Given the description of an element on the screen output the (x, y) to click on. 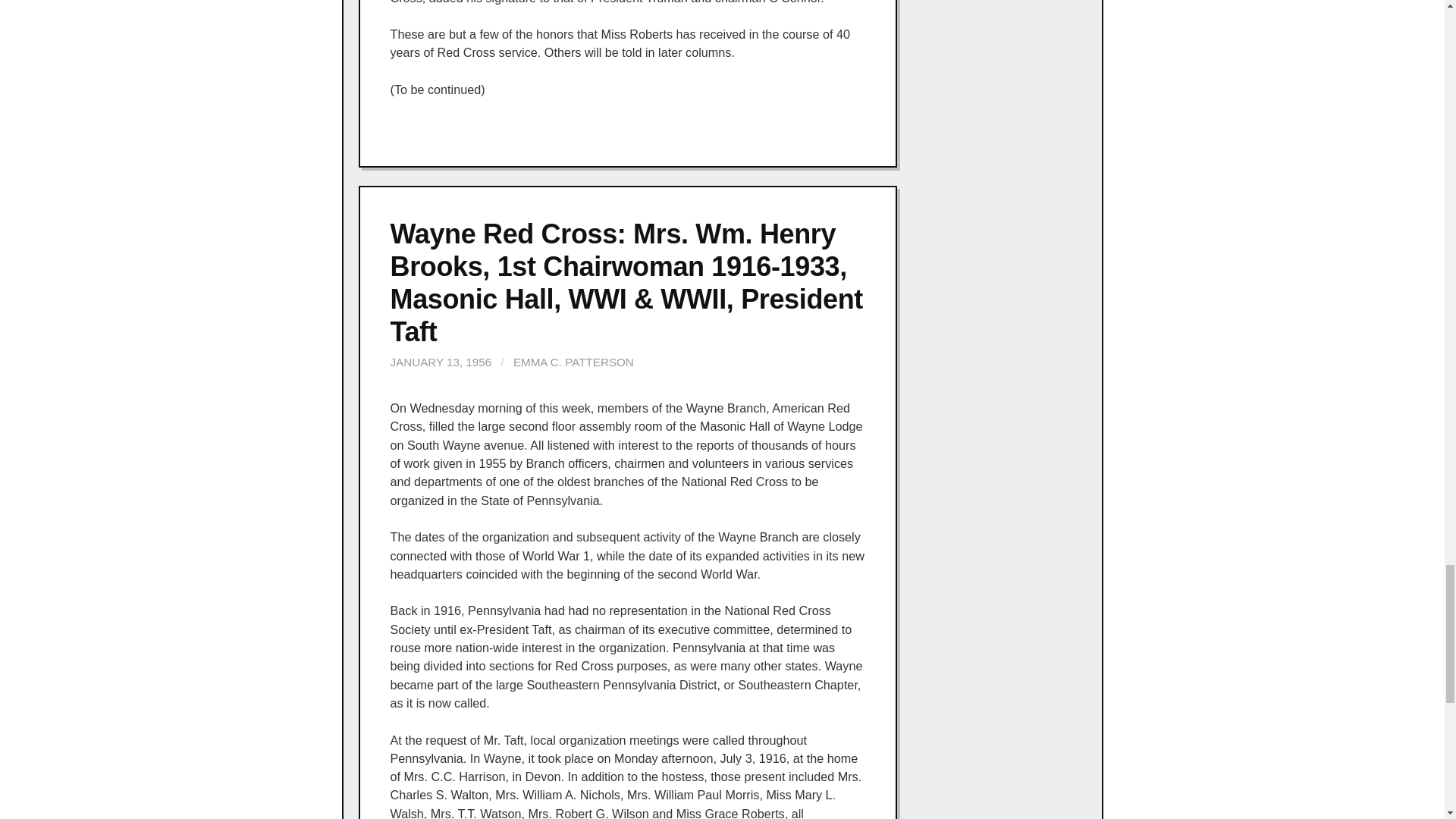
EMMA C. PATTERSON (573, 361)
JANUARY 13, 1956 (441, 361)
